Given the description of an element on the screen output the (x, y) to click on. 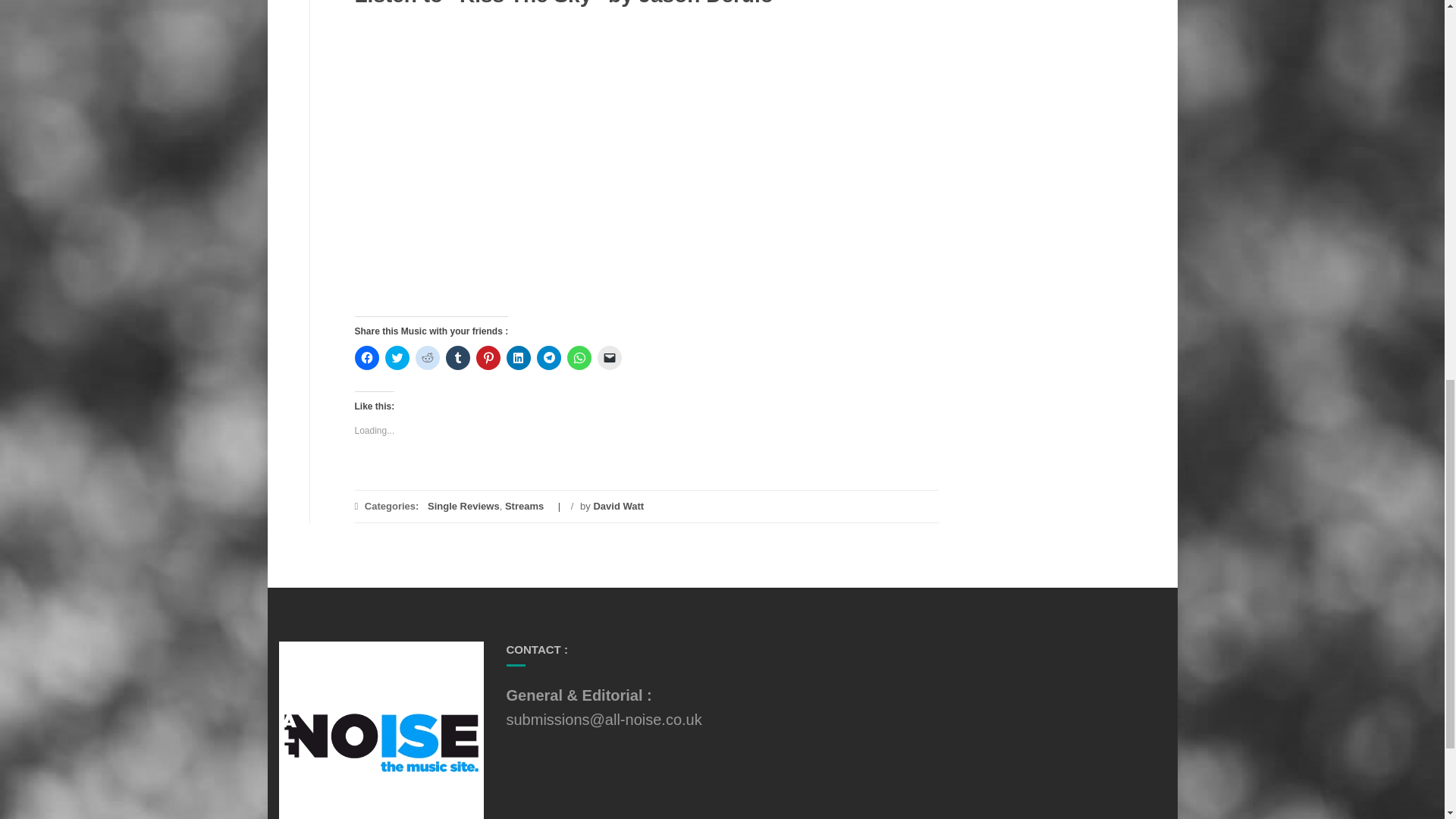
Click to email a link to a friend (608, 357)
Click to share on Telegram (548, 357)
Click to share on LinkedIn (518, 357)
Click to share on WhatsApp (579, 357)
Single Reviews (463, 505)
Click to share on Tumblr (457, 357)
Click to share on Facebook (366, 357)
Click to share on Twitter (397, 357)
Click to share on Reddit (426, 357)
Click to share on Pinterest (488, 357)
David Watt (617, 505)
Streams (524, 505)
